Given the description of an element on the screen output the (x, y) to click on. 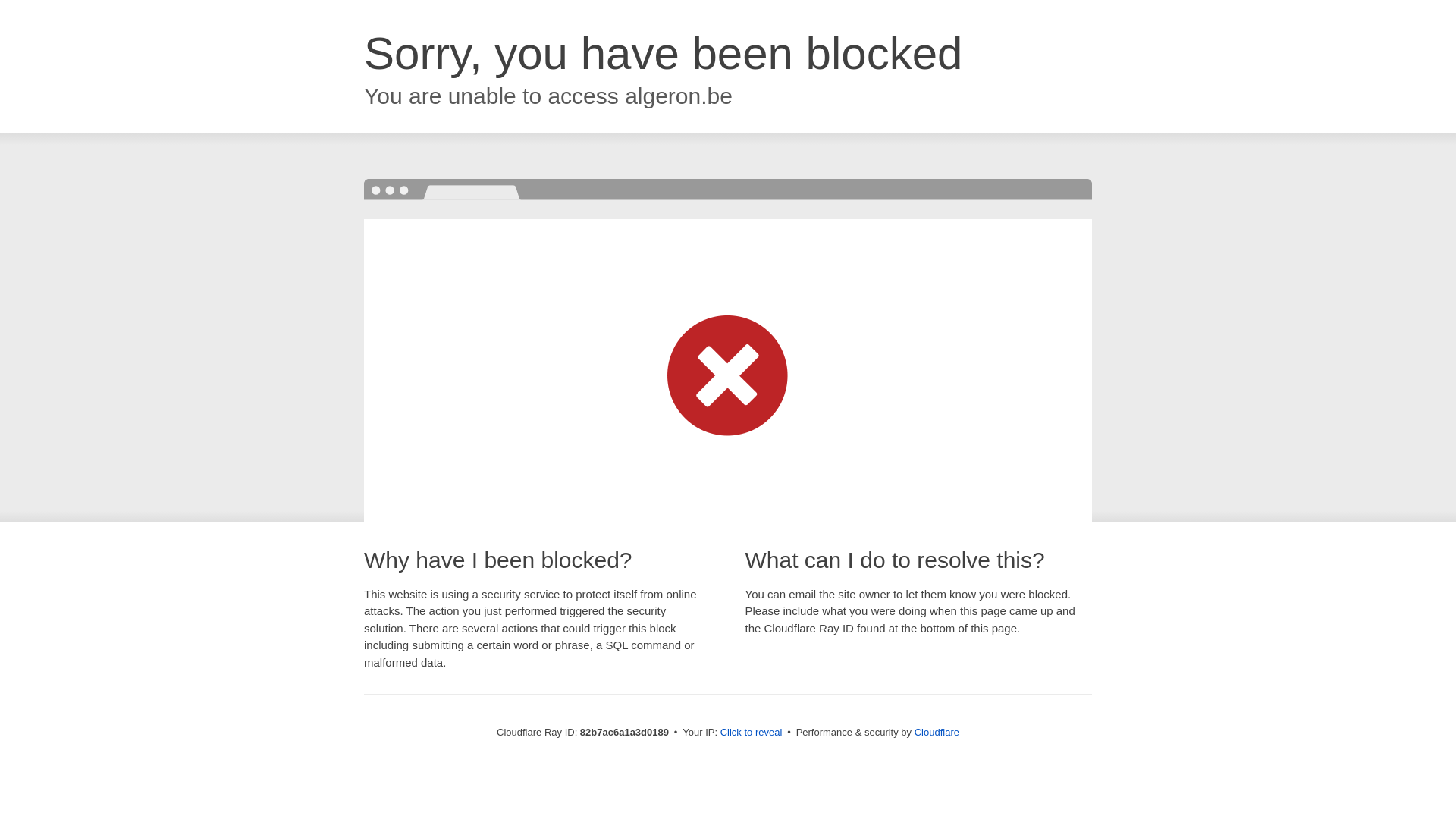
Click to reveal Element type: text (751, 732)
Cloudflare Element type: text (936, 731)
